Given the description of an element on the screen output the (x, y) to click on. 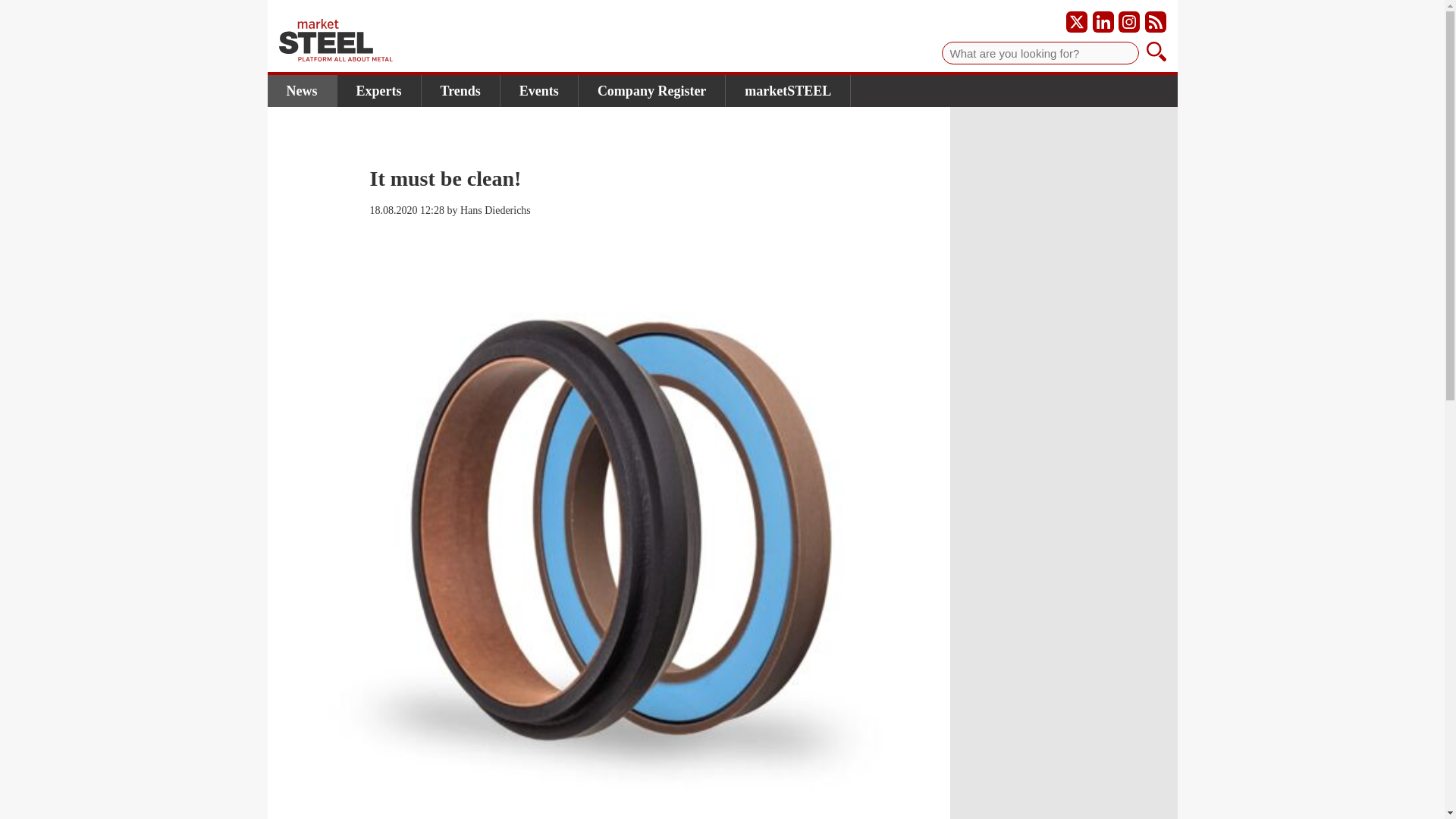
Experts (378, 91)
Trends (461, 91)
News (301, 91)
News (301, 91)
Experts (378, 91)
Trends (461, 91)
